Given the description of an element on the screen output the (x, y) to click on. 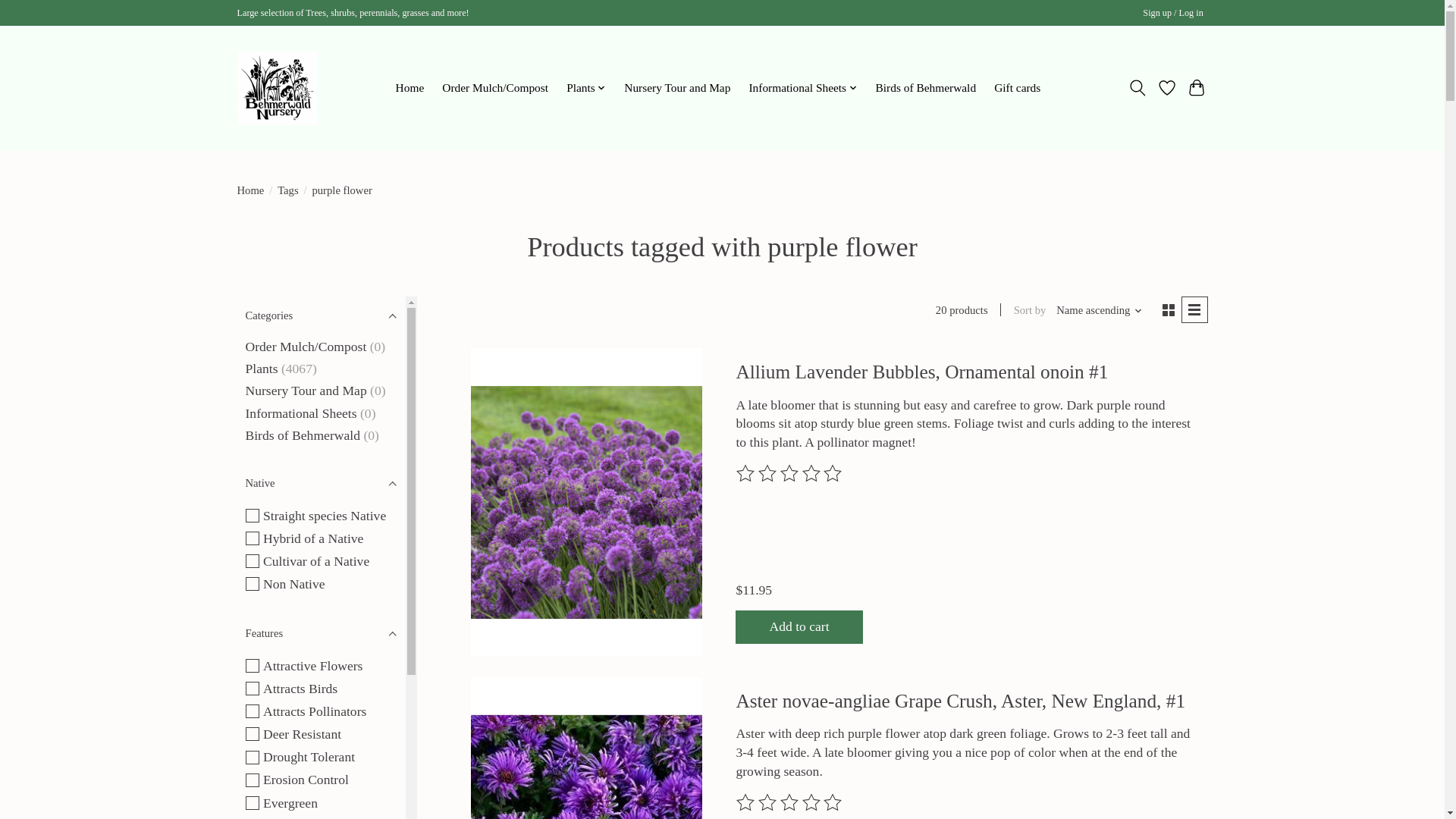
My account (1173, 13)
Plants (585, 87)
Informational Sheets (802, 87)
Home (409, 87)
Nursery Tour and Map (677, 87)
